Given the description of an element on the screen output the (x, y) to click on. 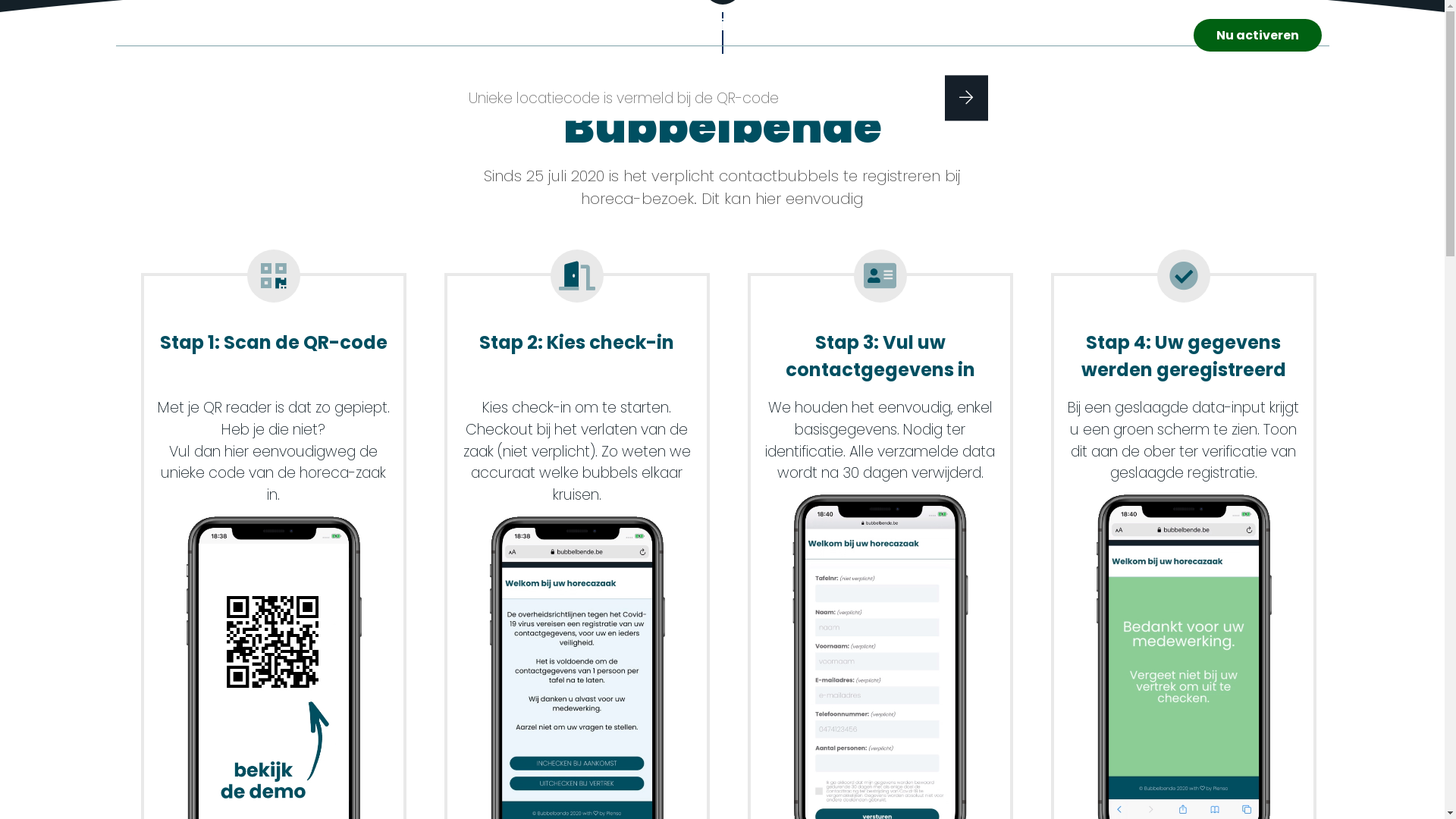
Faq Element type: text (1156, 34)
Nu activeren Element type: text (1257, 34)
